Given the description of an element on the screen output the (x, y) to click on. 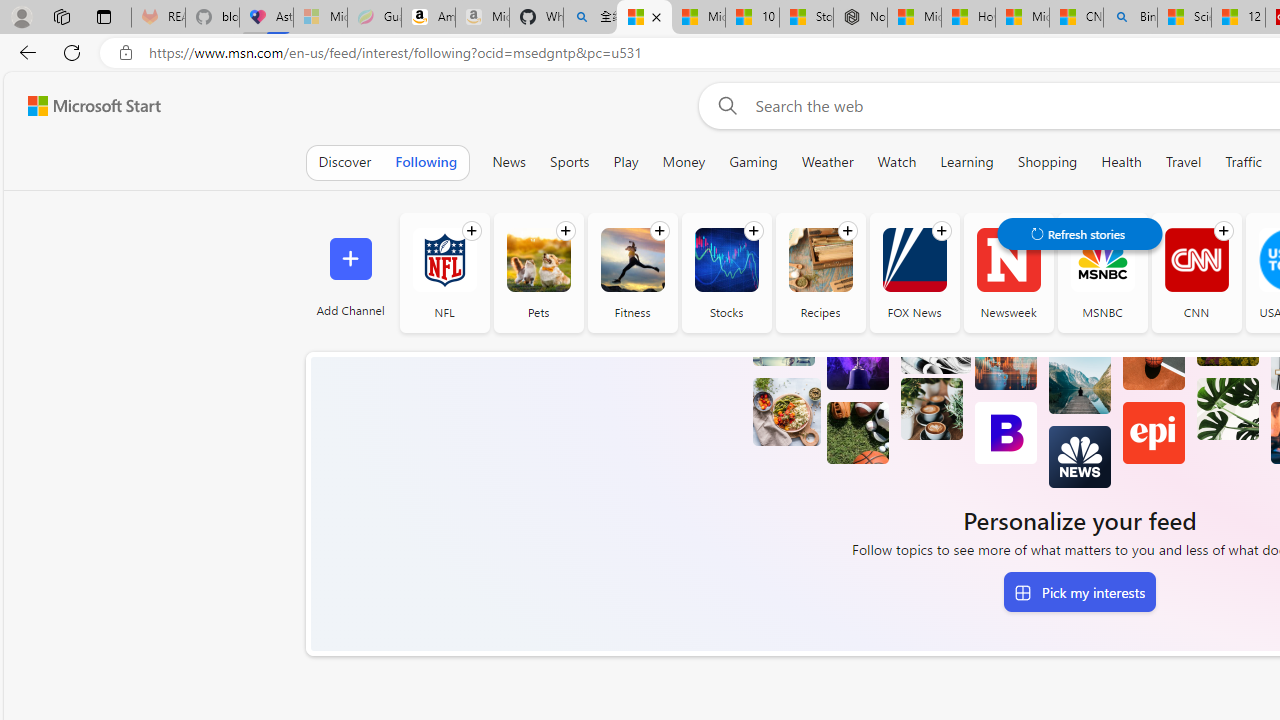
Skip to content (86, 105)
FOX News (914, 260)
Learning (967, 162)
Stocks (726, 260)
Weather (827, 162)
Recipes (820, 260)
CNN - MSN (1076, 17)
Nordace - Nordace Siena Is Not An Ordinary Backpack (860, 17)
Pets (537, 272)
How I Got Rid of Microsoft Edge's Unnecessary Features (968, 17)
12 Popular Science Lies that Must be Corrected (1238, 17)
